Given the description of an element on the screen output the (x, y) to click on. 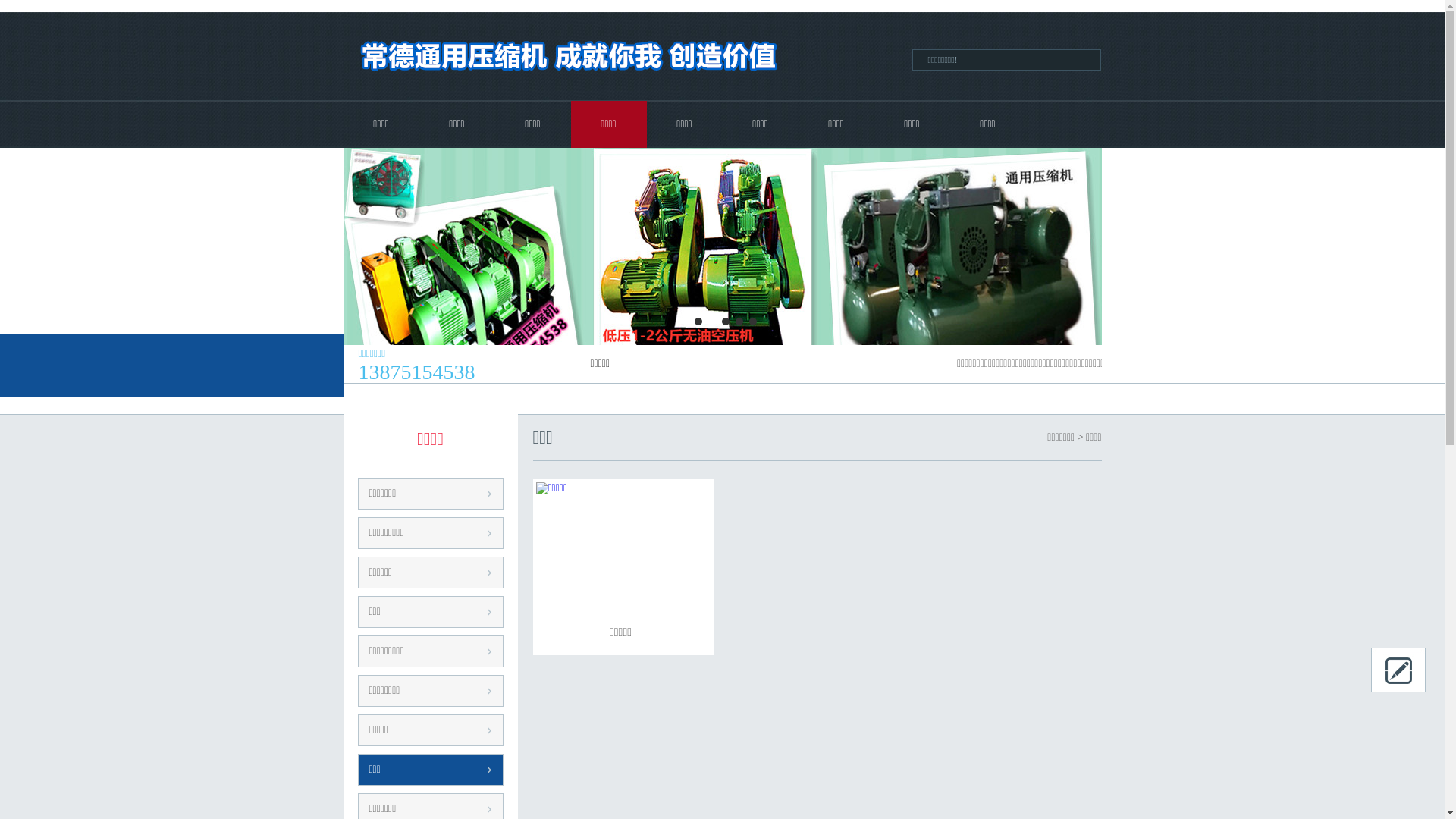
02 Element type: hover (721, 287)
